Given the description of an element on the screen output the (x, y) to click on. 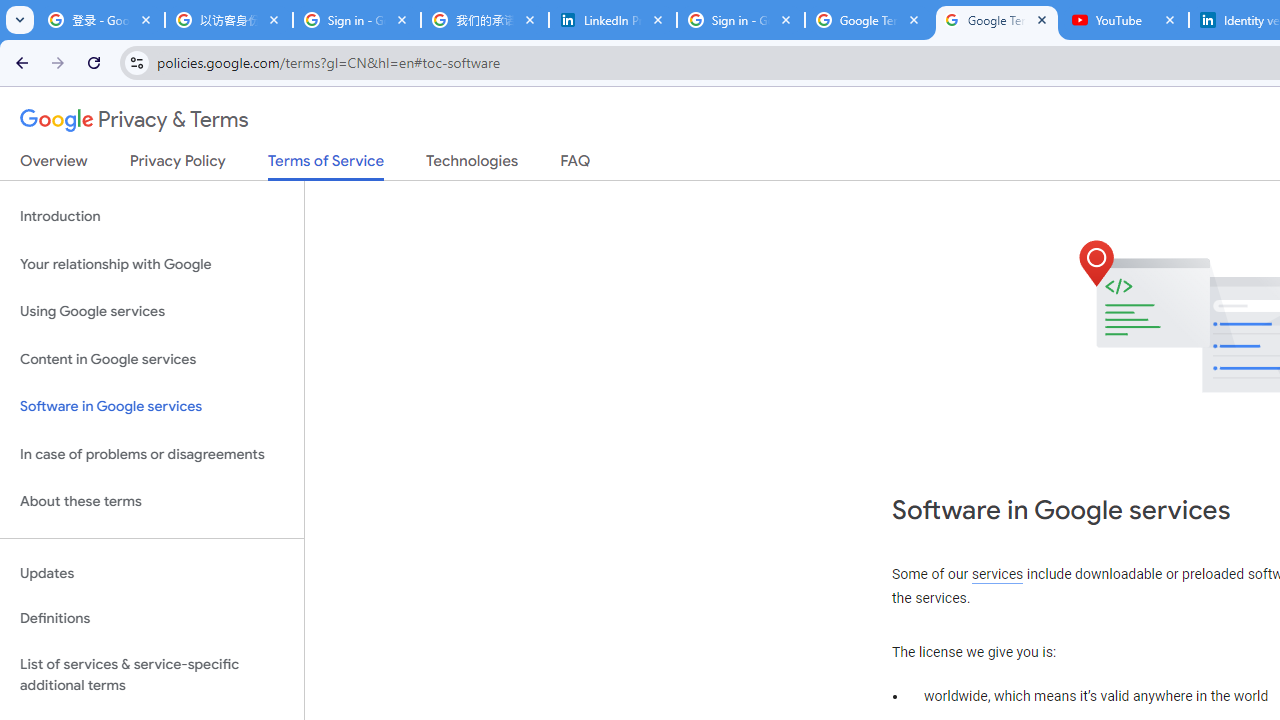
LinkedIn Privacy Policy (613, 20)
FAQ (575, 165)
Privacy & Terms (134, 120)
Updates (152, 573)
